Given the description of an element on the screen output the (x, y) to click on. 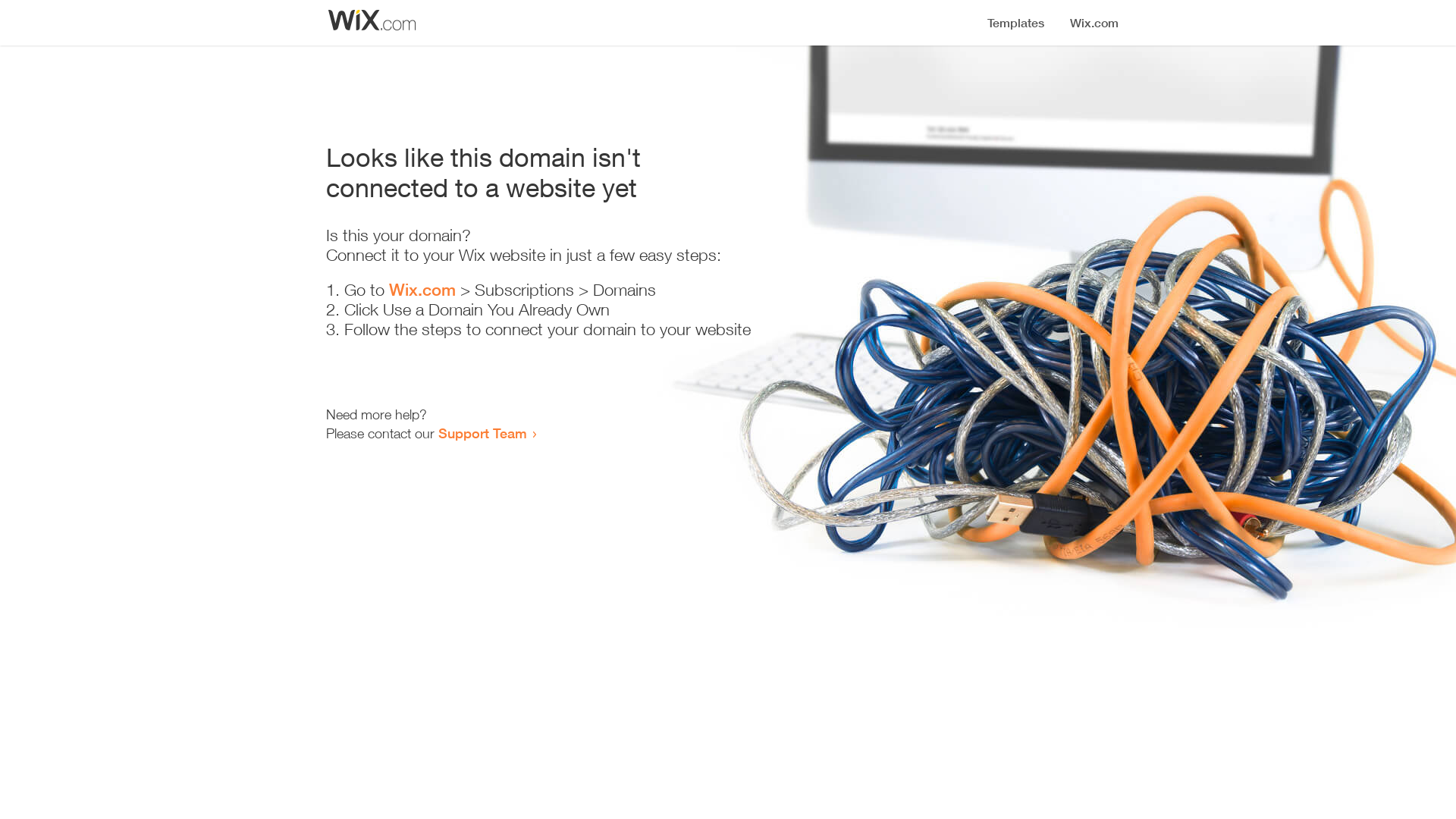
Support Team Element type: text (482, 432)
Wix.com Element type: text (422, 289)
